Given the description of an element on the screen output the (x, y) to click on. 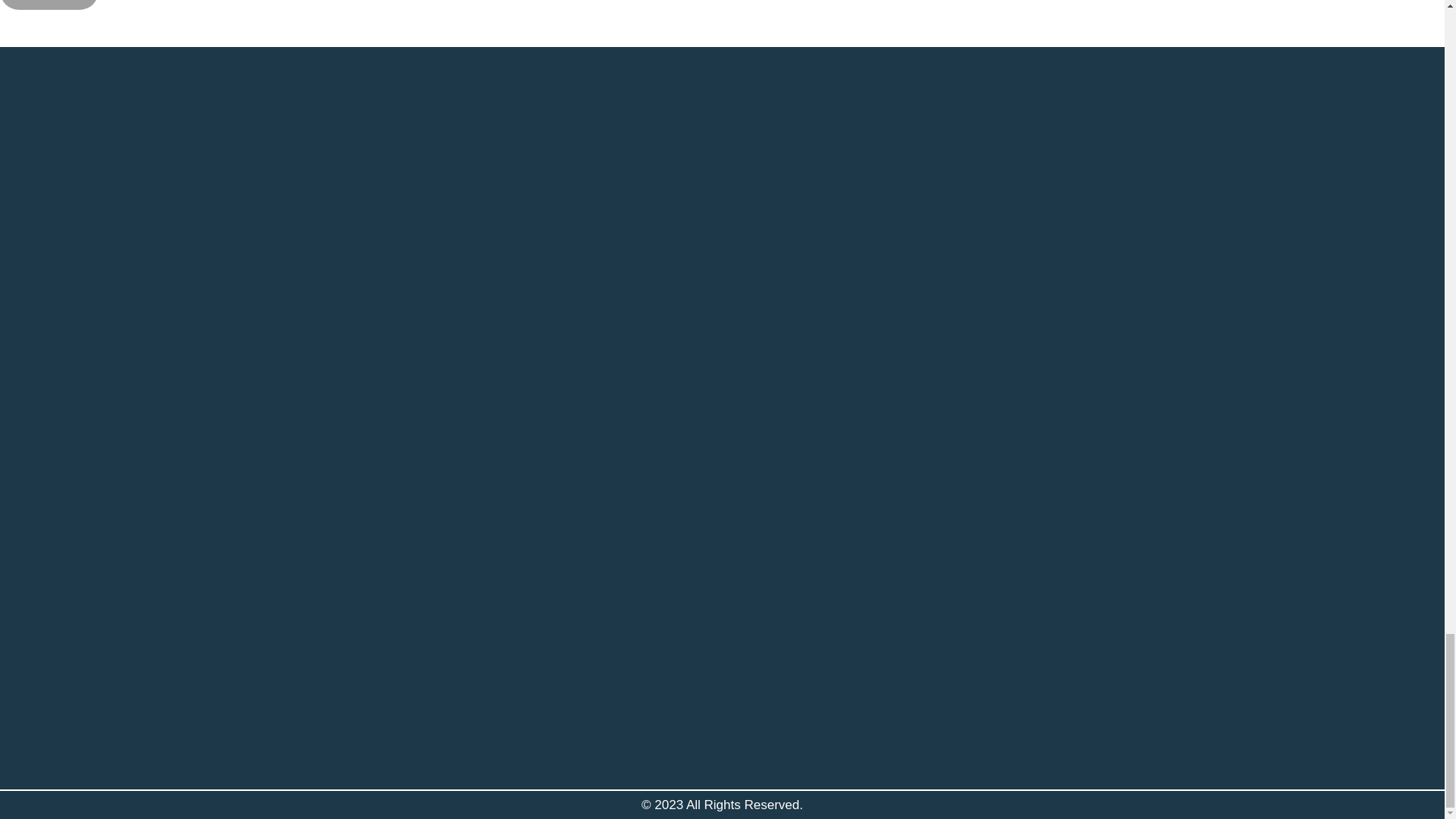
Submit (49, 4)
